Given the description of an element on the screen output the (x, y) to click on. 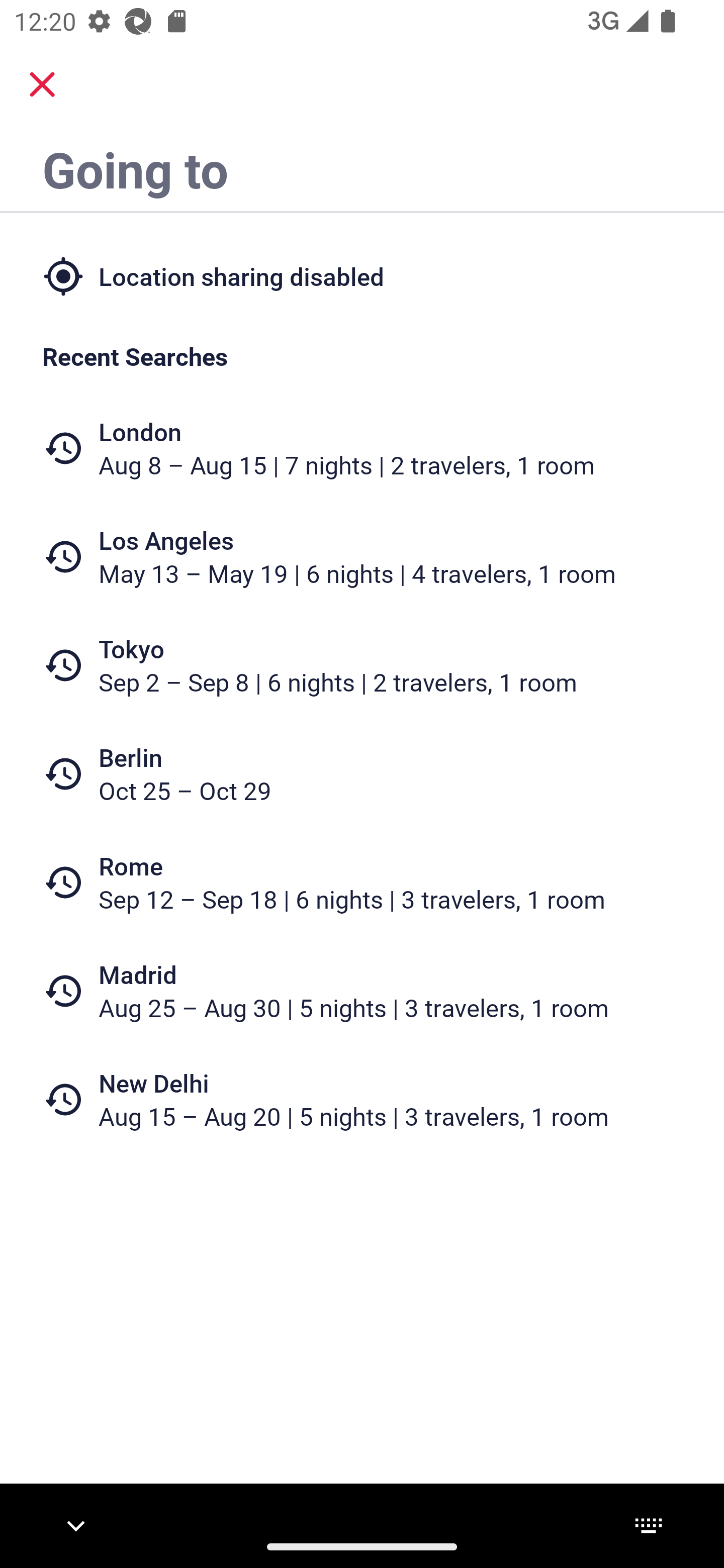
close. (42, 84)
Location sharing disabled (362, 275)
Berlin Oct 25 – Oct 29 (362, 773)
